Given the description of an element on the screen output the (x, y) to click on. 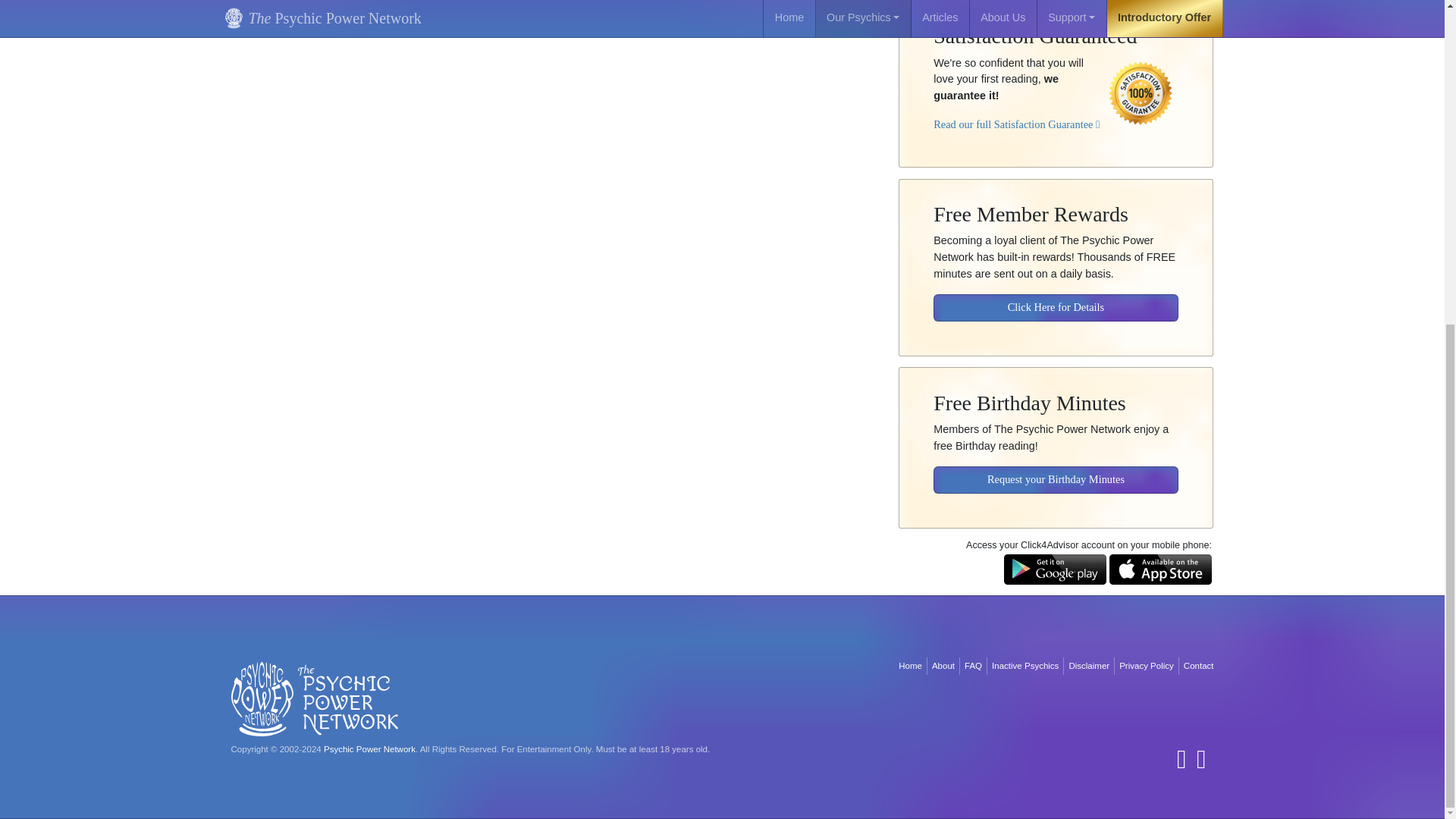
Home (909, 665)
Read our full Satisfaction Guarantee  (1016, 113)
